Given the description of an element on the screen output the (x, y) to click on. 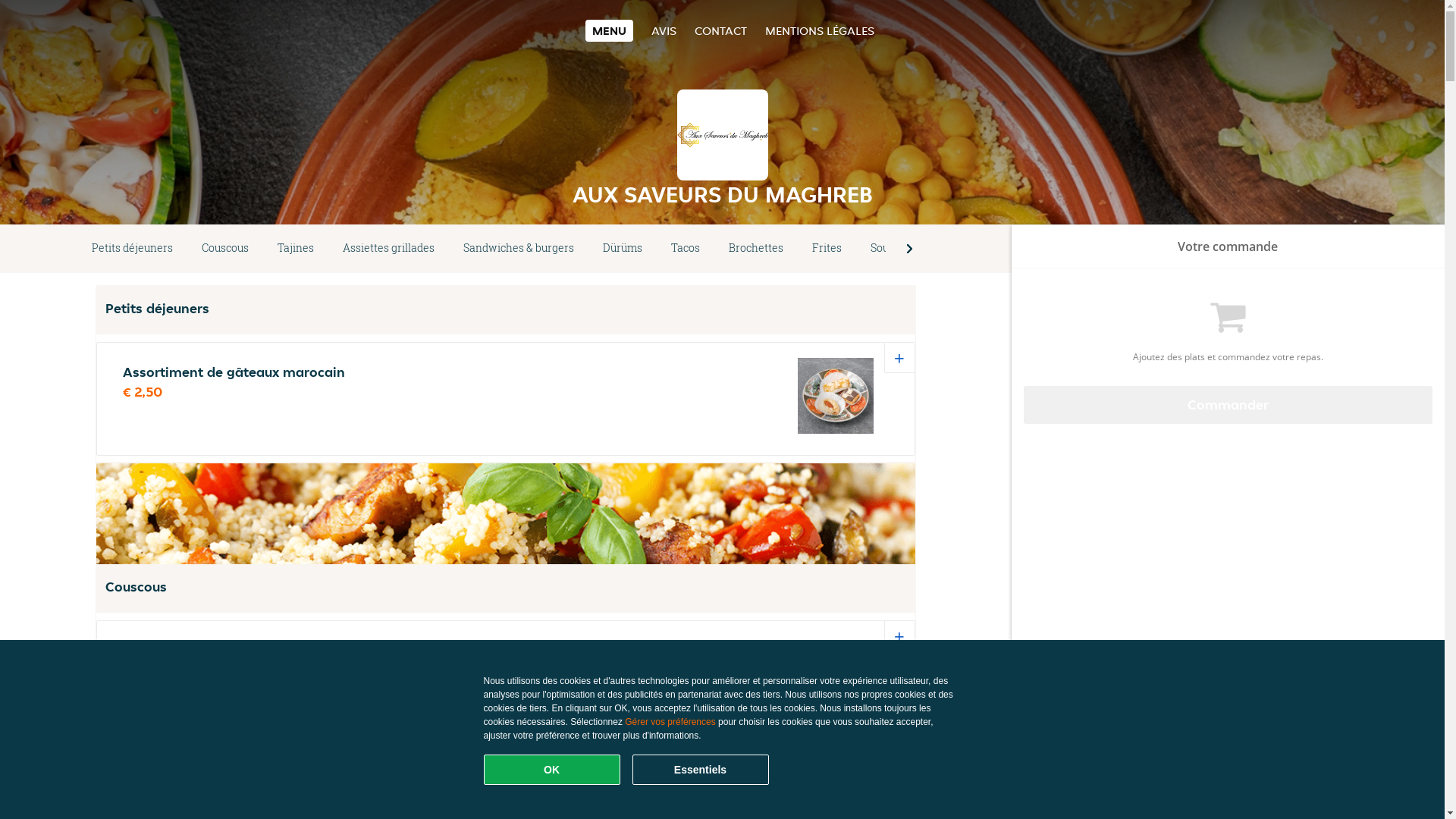
CONTACT Element type: text (720, 30)
Sandwiches & burgers Element type: text (518, 248)
Assiettes grillades Element type: text (388, 248)
Soupes Element type: text (888, 248)
MENU Element type: text (609, 30)
OK Element type: text (551, 769)
Brochettes Element type: text (755, 248)
Commander Element type: text (1228, 404)
Couscous Element type: text (225, 248)
AVIS Element type: text (663, 30)
Essentiels Element type: text (700, 769)
Tajines Element type: text (295, 248)
Tacos Element type: text (685, 248)
Frites Element type: text (826, 248)
